Given the description of an element on the screen output the (x, y) to click on. 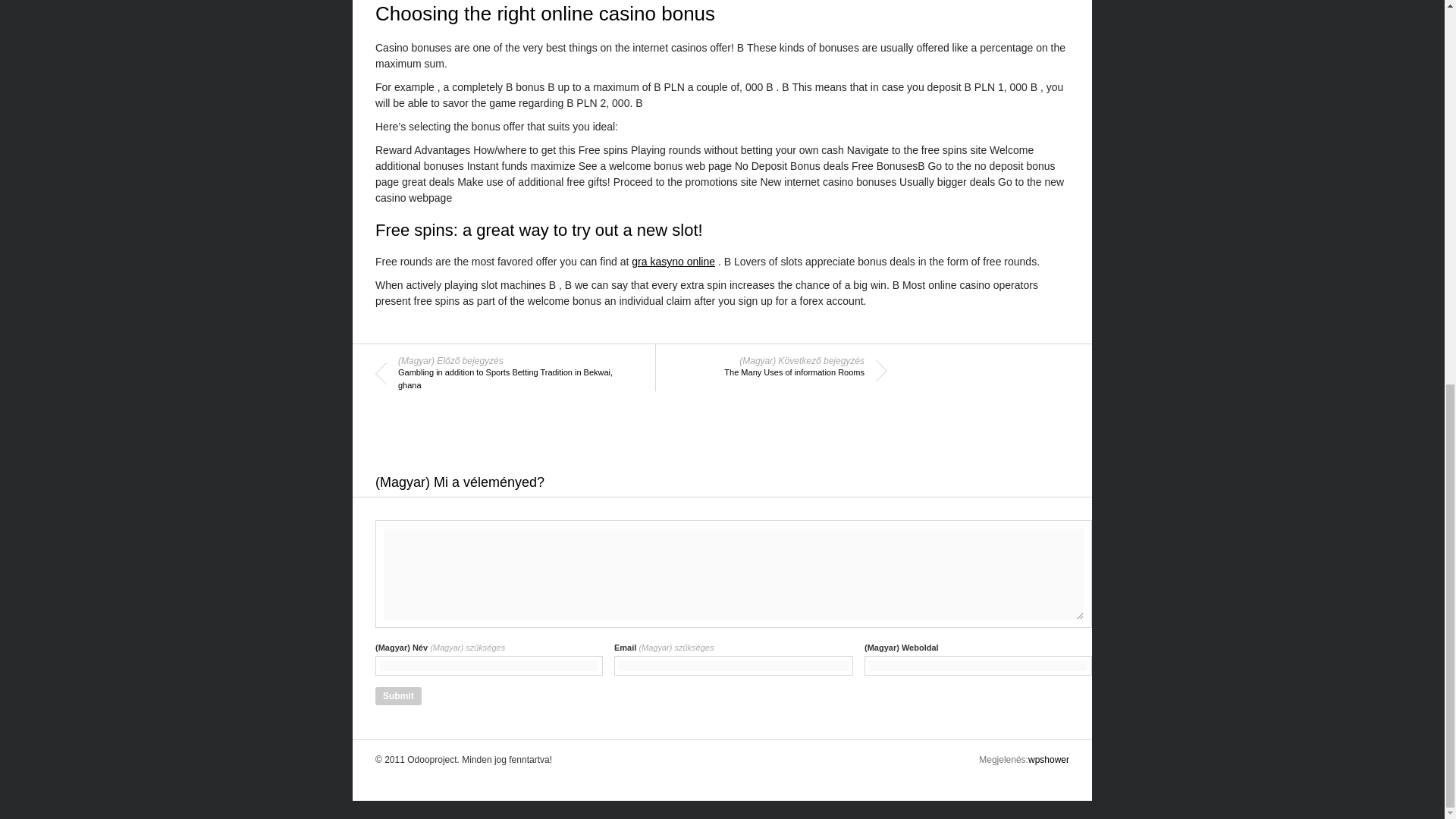
Submit (398, 696)
Submit (398, 696)
wpshower (1047, 759)
gra kasyno online (672, 261)
